Given the description of an element on the screen output the (x, y) to click on. 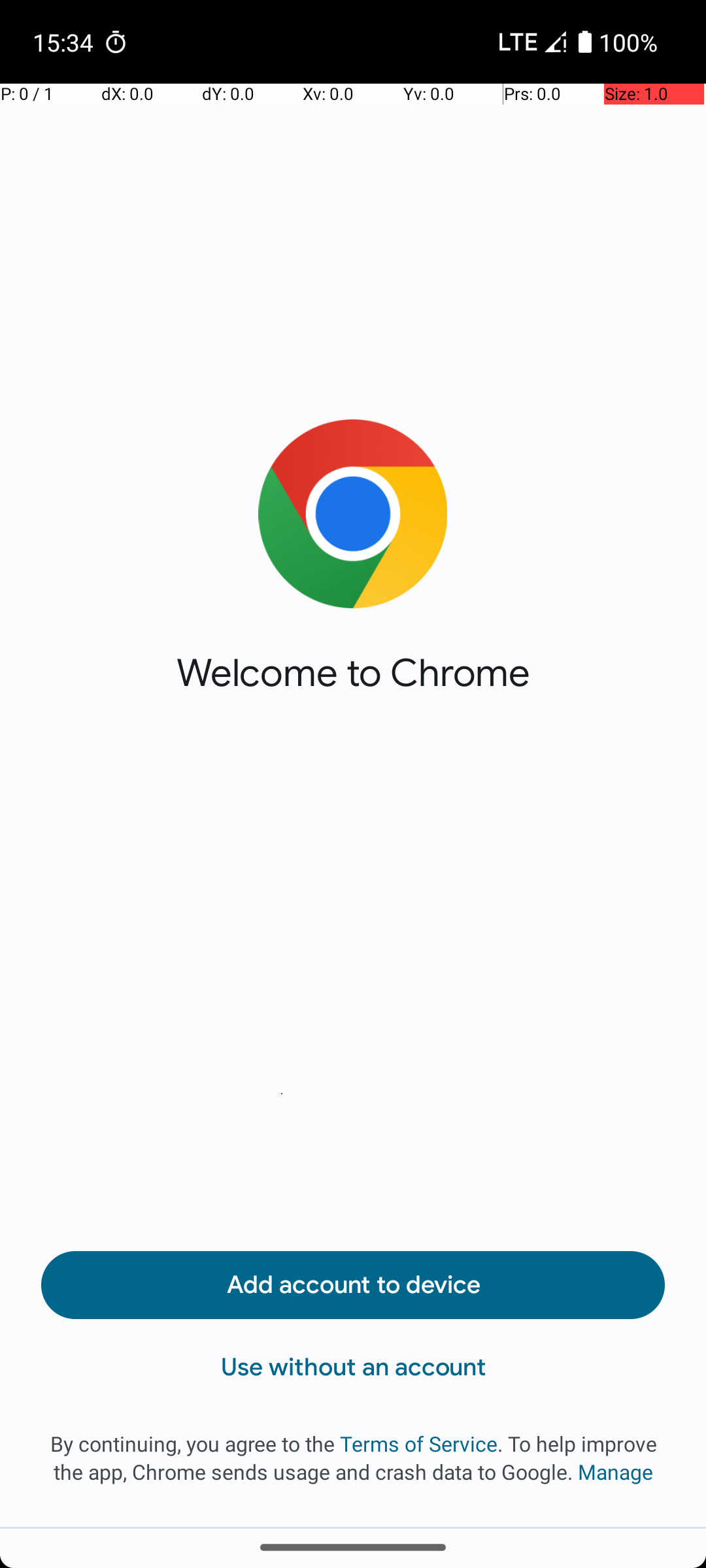
By continuing, you agree to the Terms of Service. To help improve the app, Chrome sends usage and crash data to Google. Manage Element type: android.widget.TextView (352, 1457)
Add account to device Element type: android.widget.Button (352, 1284)
Use without an account Element type: android.widget.Button (352, 1367)
